Given the description of an element on the screen output the (x, y) to click on. 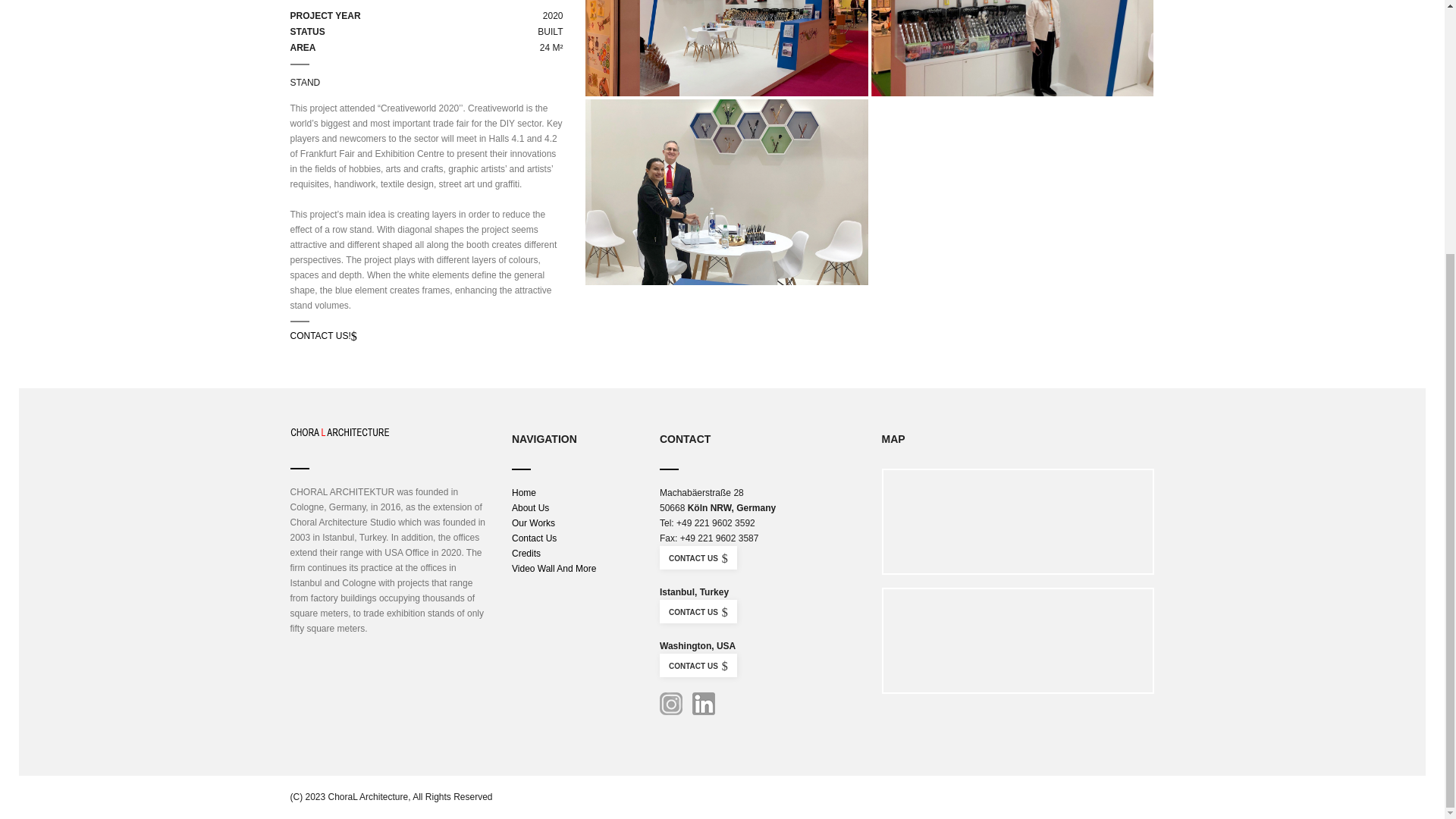
CONTACT US! (322, 335)
CONTACT US (697, 611)
CONTACT US (697, 665)
Contact Us (534, 538)
Home (523, 492)
About Us (530, 507)
Video Wall And More (553, 568)
Our Works (533, 522)
Credits (526, 552)
CONTACT US (697, 557)
